Given the description of an element on the screen output the (x, y) to click on. 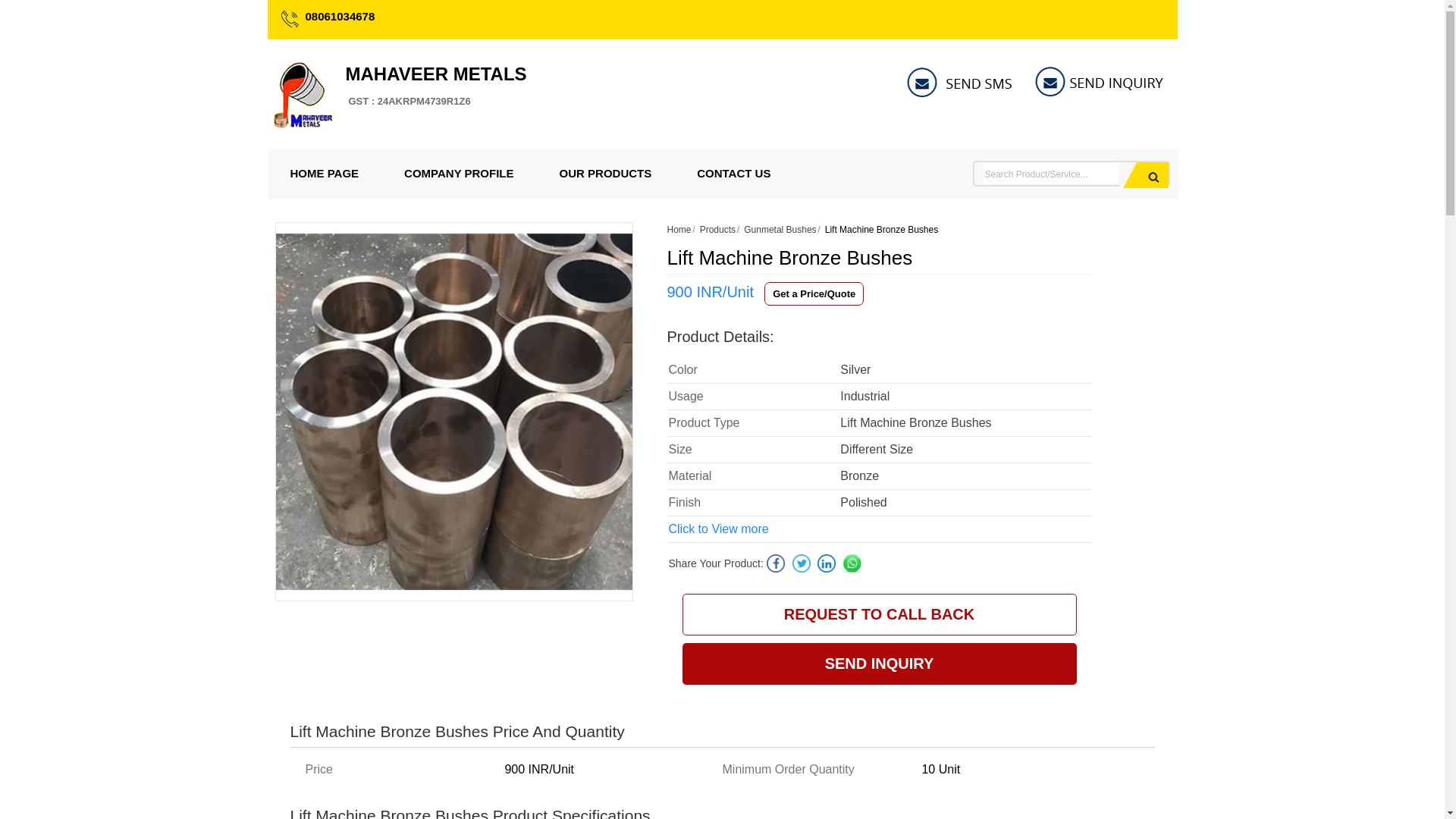
submit (1143, 175)
HOME PAGE (323, 173)
submit (1143, 175)
COMPANY PROFILE (436, 85)
OUR PRODUCTS (458, 173)
